Given the description of an element on the screen output the (x, y) to click on. 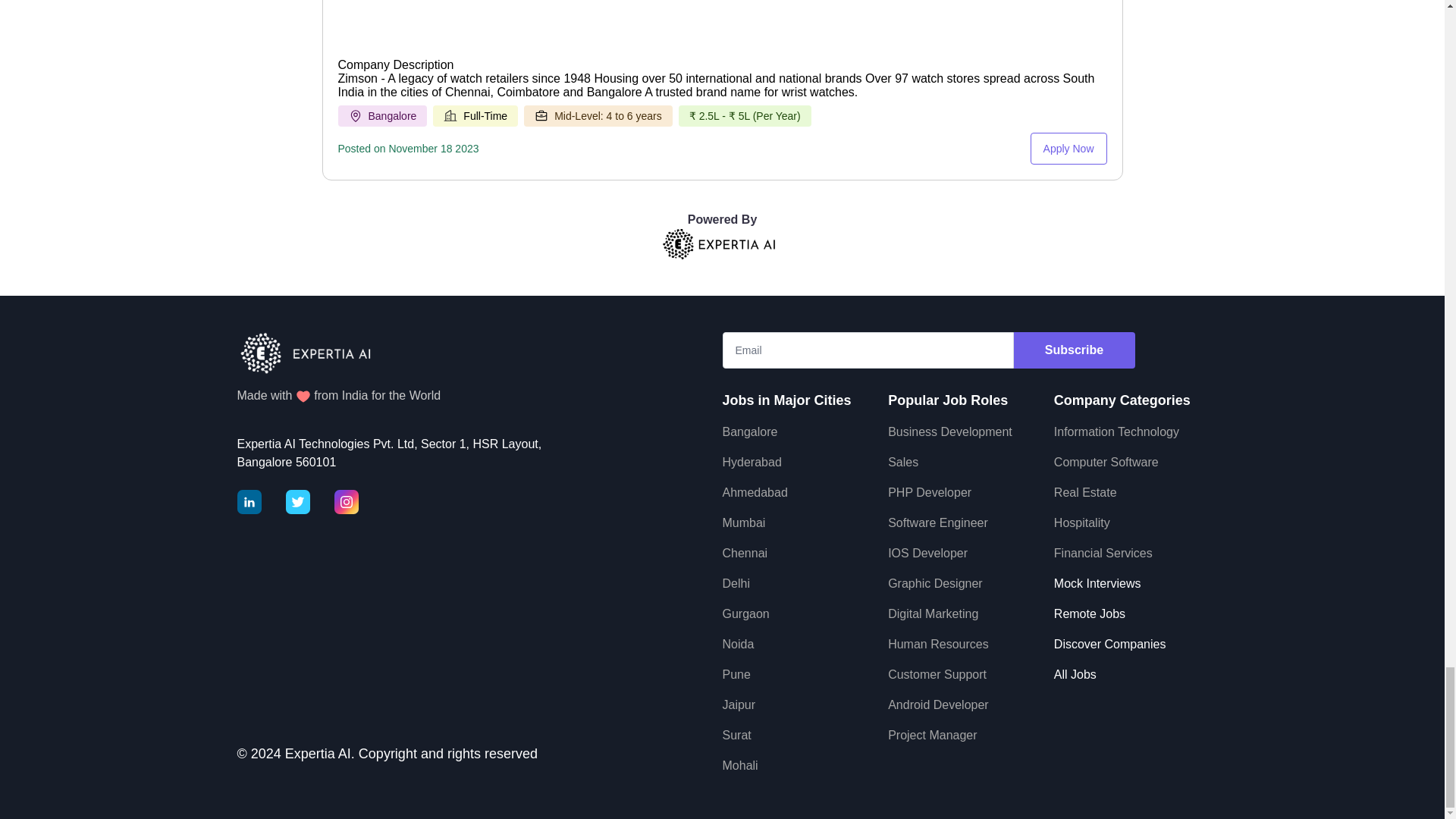
Chennai (744, 553)
Bangalore (749, 431)
Mumbai (743, 522)
Ahmedabad (754, 492)
Gurgaon (745, 613)
Pune (735, 674)
Mohali (739, 765)
Delhi (735, 583)
PHP Developer (929, 492)
Business Development (949, 431)
Software Engineer (938, 522)
Jaipur (738, 704)
Subscribe (1073, 350)
Surat (736, 735)
Apply Now (1068, 148)
